Given the description of an element on the screen output the (x, y) to click on. 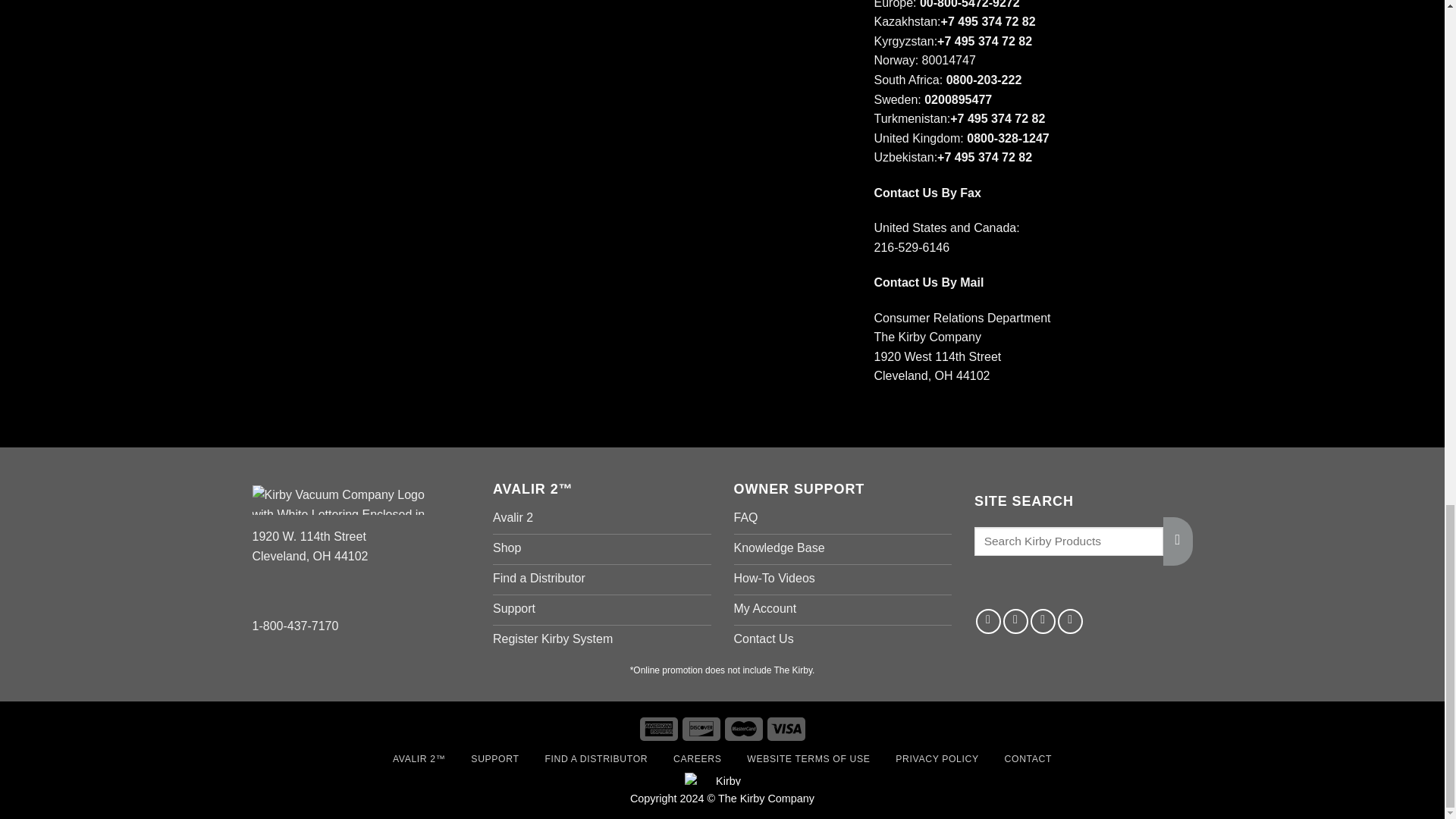
Follow on Pinterest (1042, 621)
Follow on Facebook (988, 621)
Follow on YouTube (1070, 621)
Follow on Instagram (1015, 621)
